Given the description of an element on the screen output the (x, y) to click on. 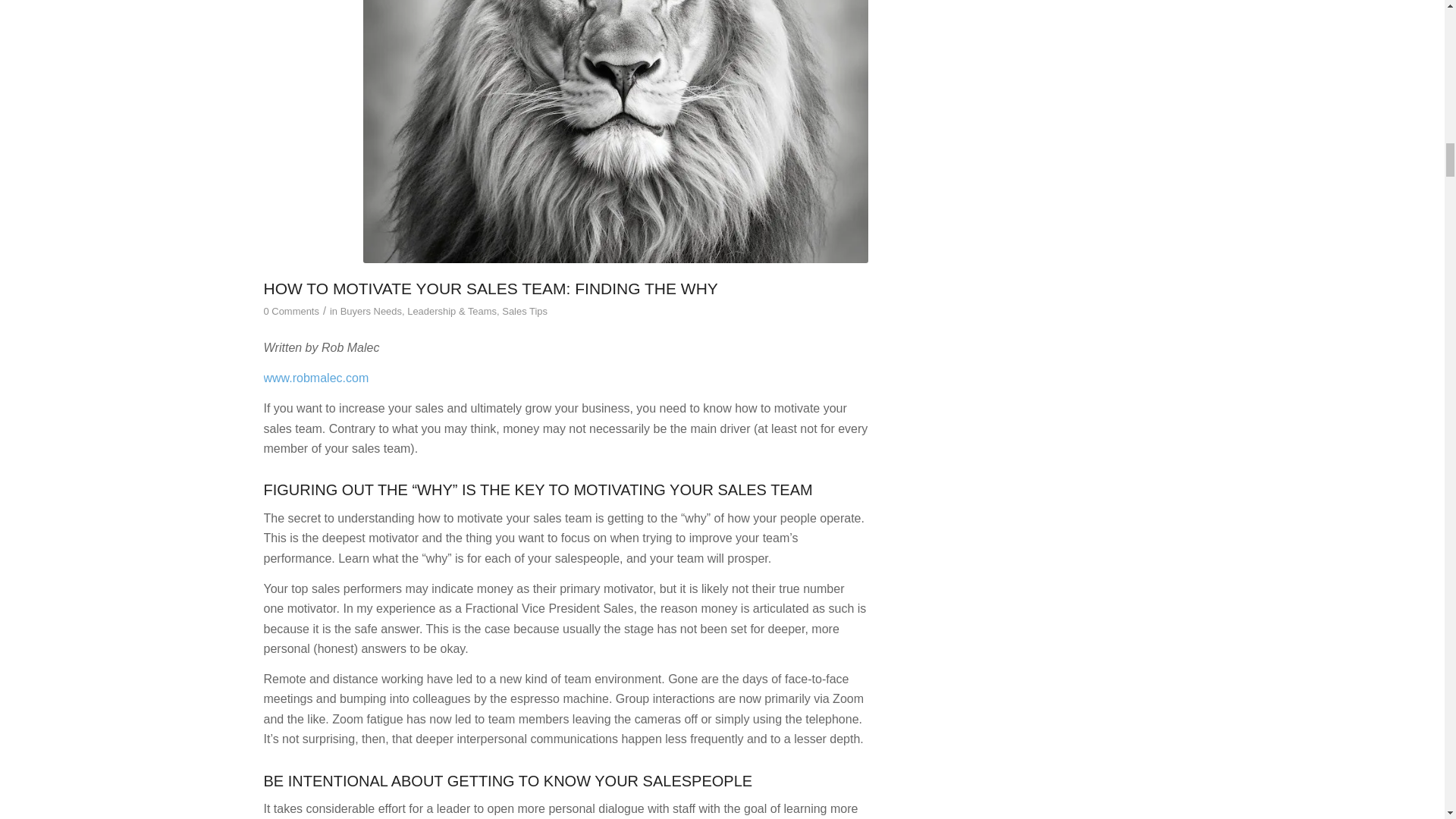
Sales Tips (524, 310)
HOW TO MOTIVATE YOUR SALES TEAM: FINDING THE WHY (490, 288)
Buyers Needs (370, 310)
0 Comments (290, 310)
